Given the description of an element on the screen output the (x, y) to click on. 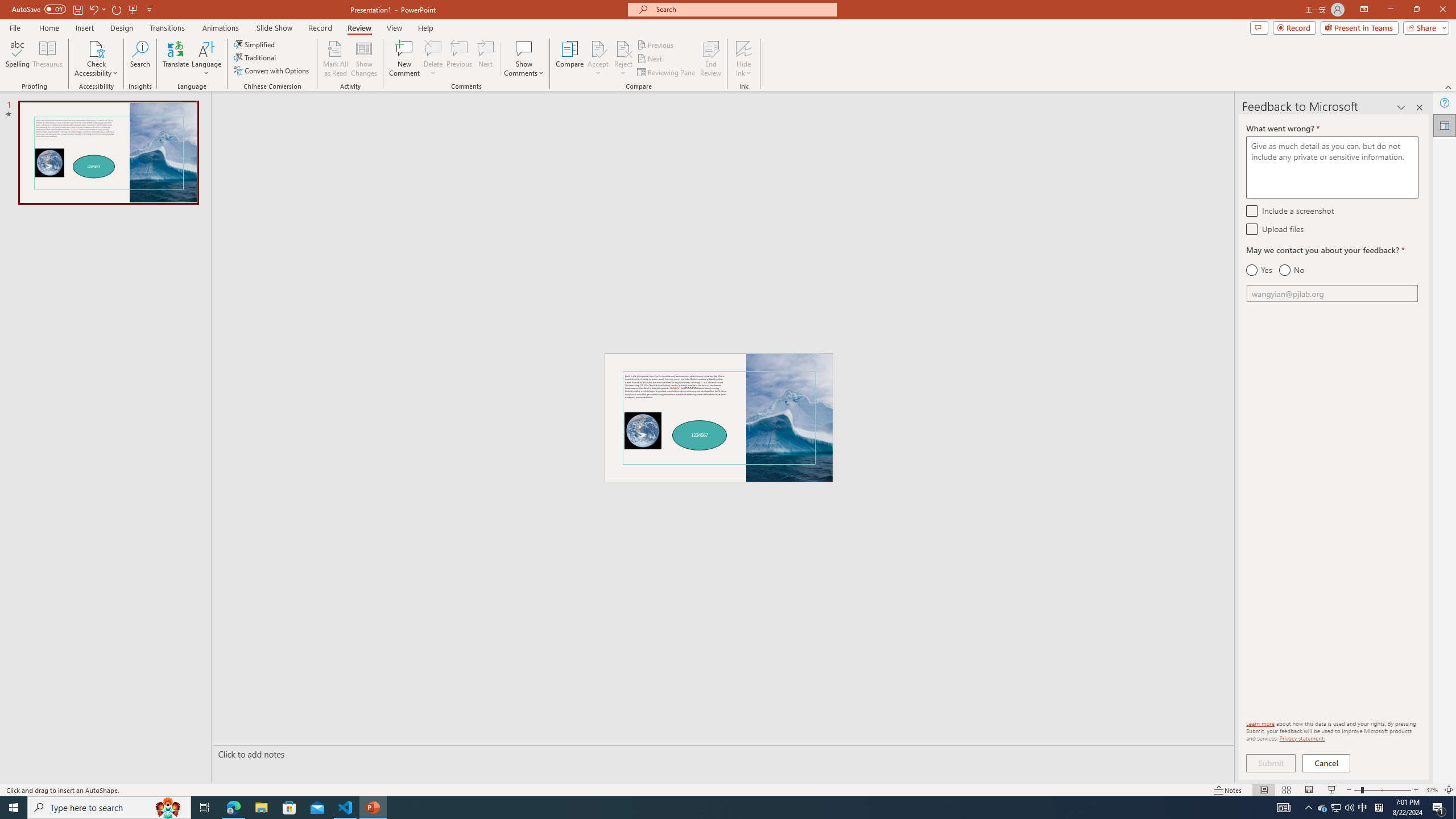
Undo (96, 9)
Delete (432, 58)
Slide Sorter (1286, 790)
Ribbon Display Options (1364, 9)
Slide Show (273, 28)
Zoom to Fit  (1449, 790)
Class: MsoCommandBar (728, 789)
Help (1444, 102)
Microsoft search (742, 9)
Zoom Out (1357, 790)
Close (1442, 9)
Zoom In (1415, 790)
Traditional (255, 56)
Check Accessibility (95, 48)
View (395, 28)
